Given the description of an element on the screen output the (x, y) to click on. 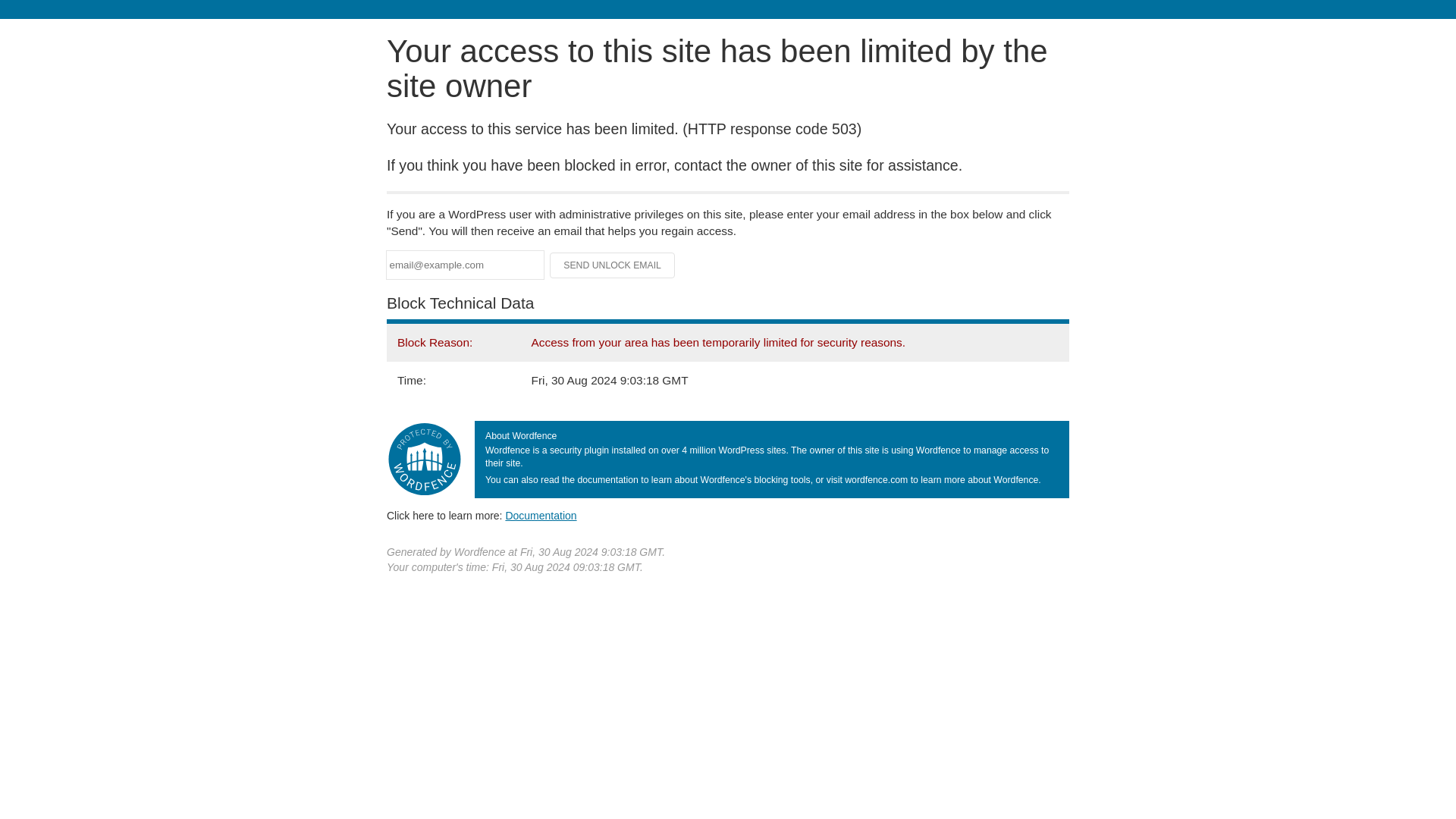
Documentation (540, 515)
Send Unlock Email (612, 265)
Send Unlock Email (612, 265)
